Given the description of an element on the screen output the (x, y) to click on. 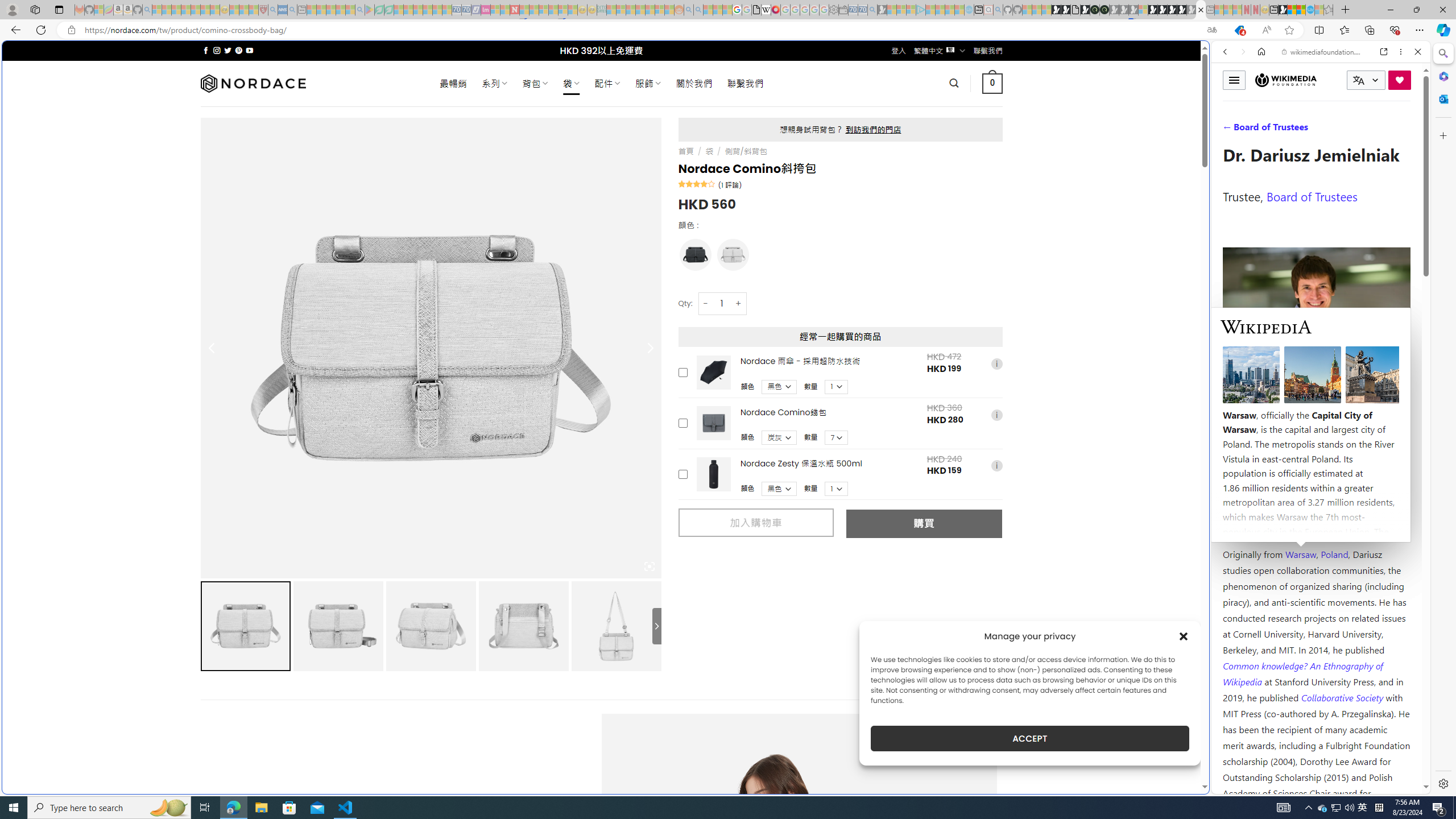
Earth has six continents not seven, radical new study claims (1300, 9)
